Given the description of an element on the screen output the (x, y) to click on. 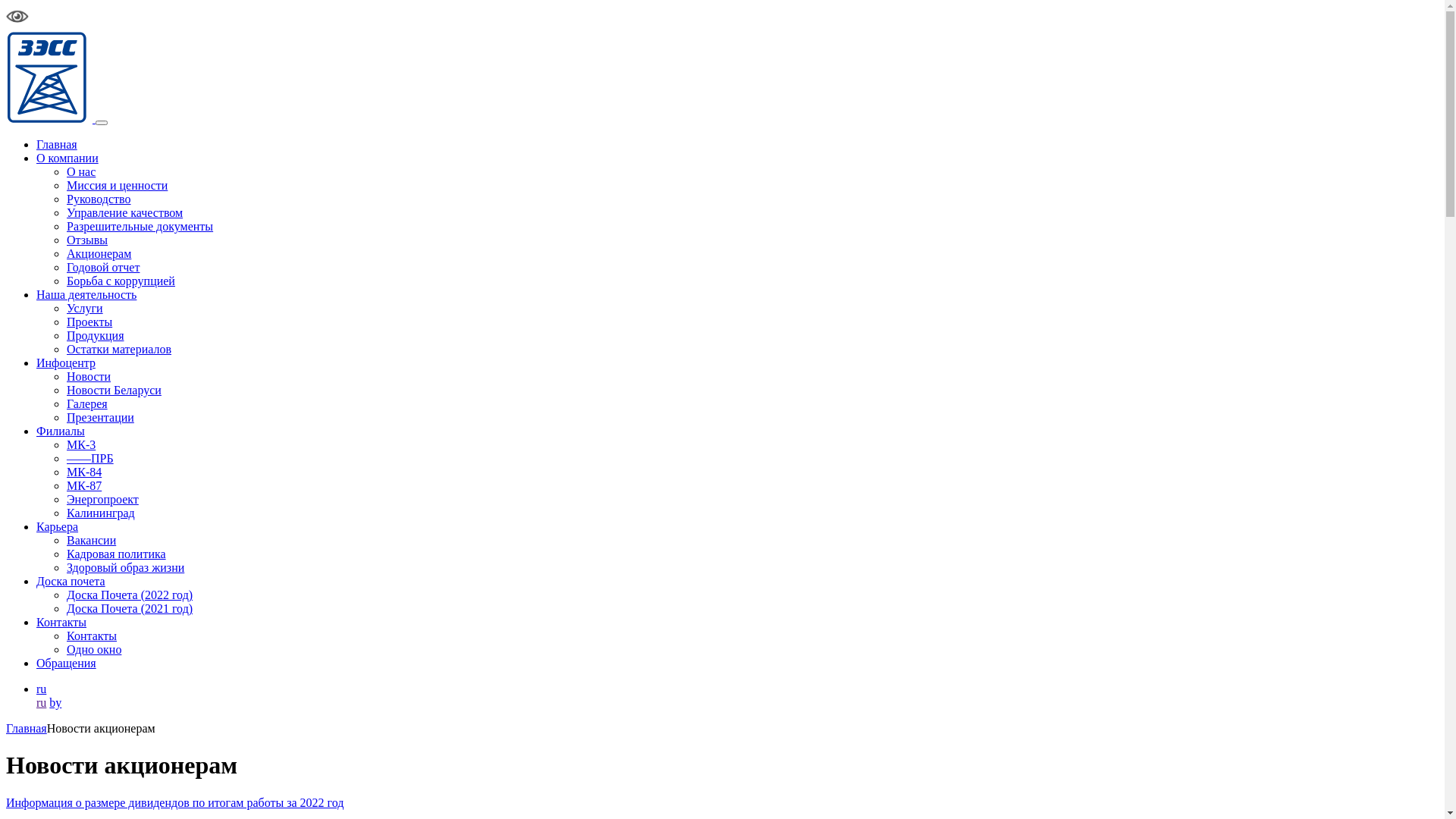
ru Element type: text (41, 702)
ru Element type: text (41, 688)
by Element type: text (55, 702)
